Given the description of an element on the screen output the (x, y) to click on. 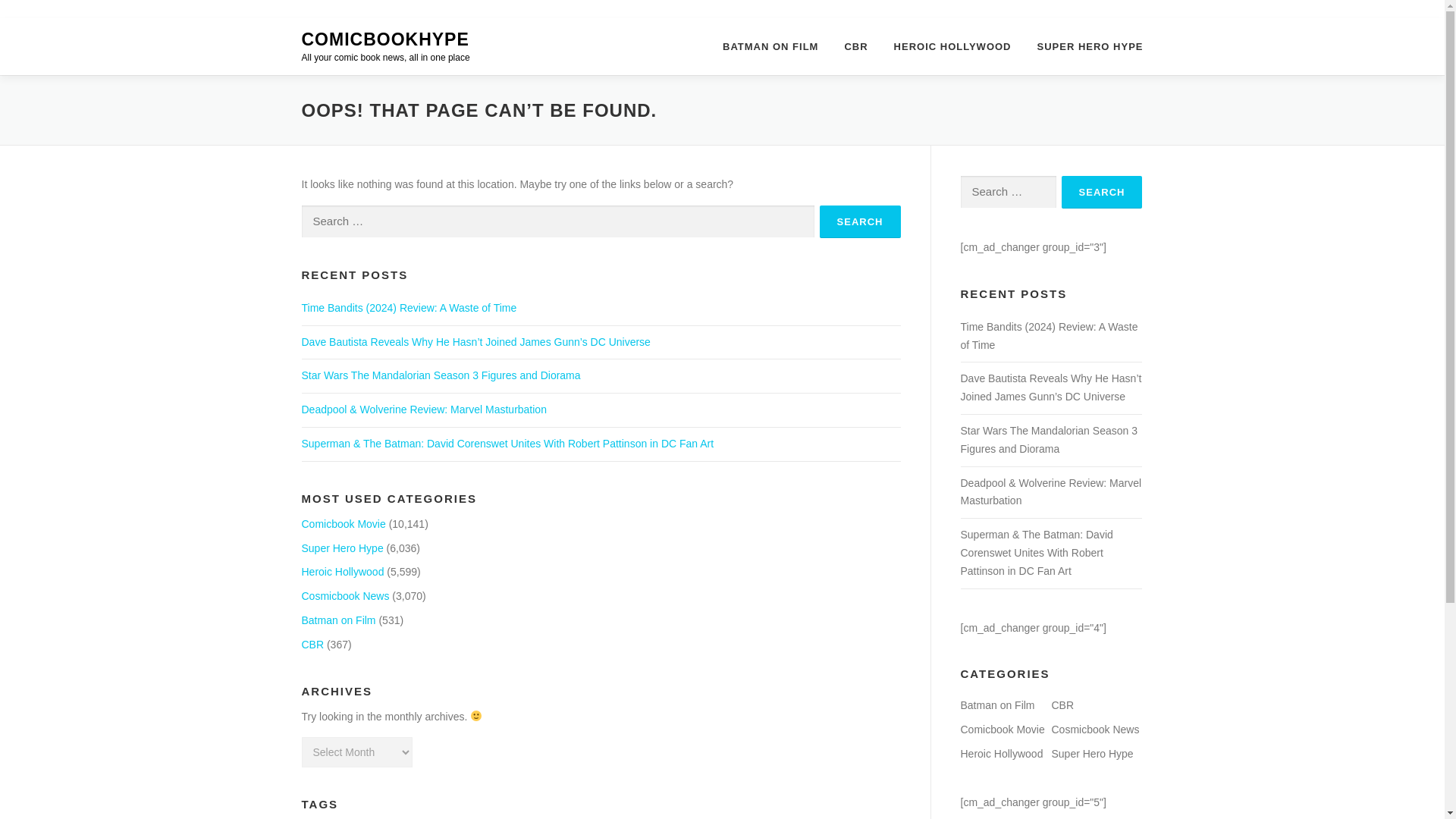
Search (1101, 192)
Heroic Hollywood (342, 571)
Search (860, 221)
Star Wars The Mandalorian Season 3 Figures and Diorama (440, 375)
Batman on Film (338, 620)
Skip to content (34, 27)
Search (860, 221)
Cosmicbook News (345, 595)
HEROIC HOLLYWOOD (952, 46)
Search (1101, 192)
Search (860, 221)
Super Hero Hype (342, 548)
CBR (312, 644)
BATMAN ON FILM (770, 46)
Comicbook Movie (343, 523)
